Given the description of an element on the screen output the (x, y) to click on. 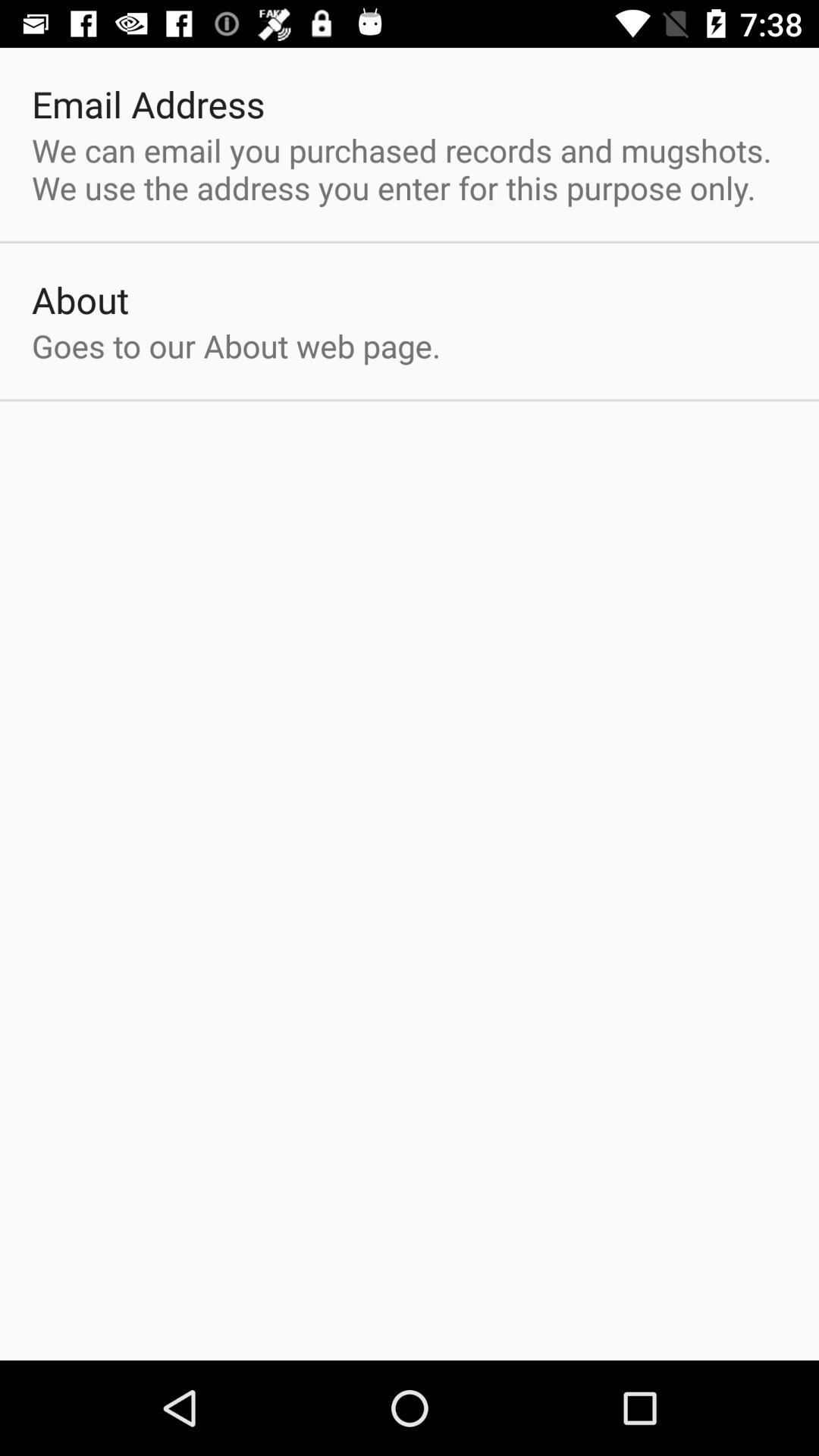
launch item below email address app (409, 168)
